Given the description of an element on the screen output the (x, y) to click on. 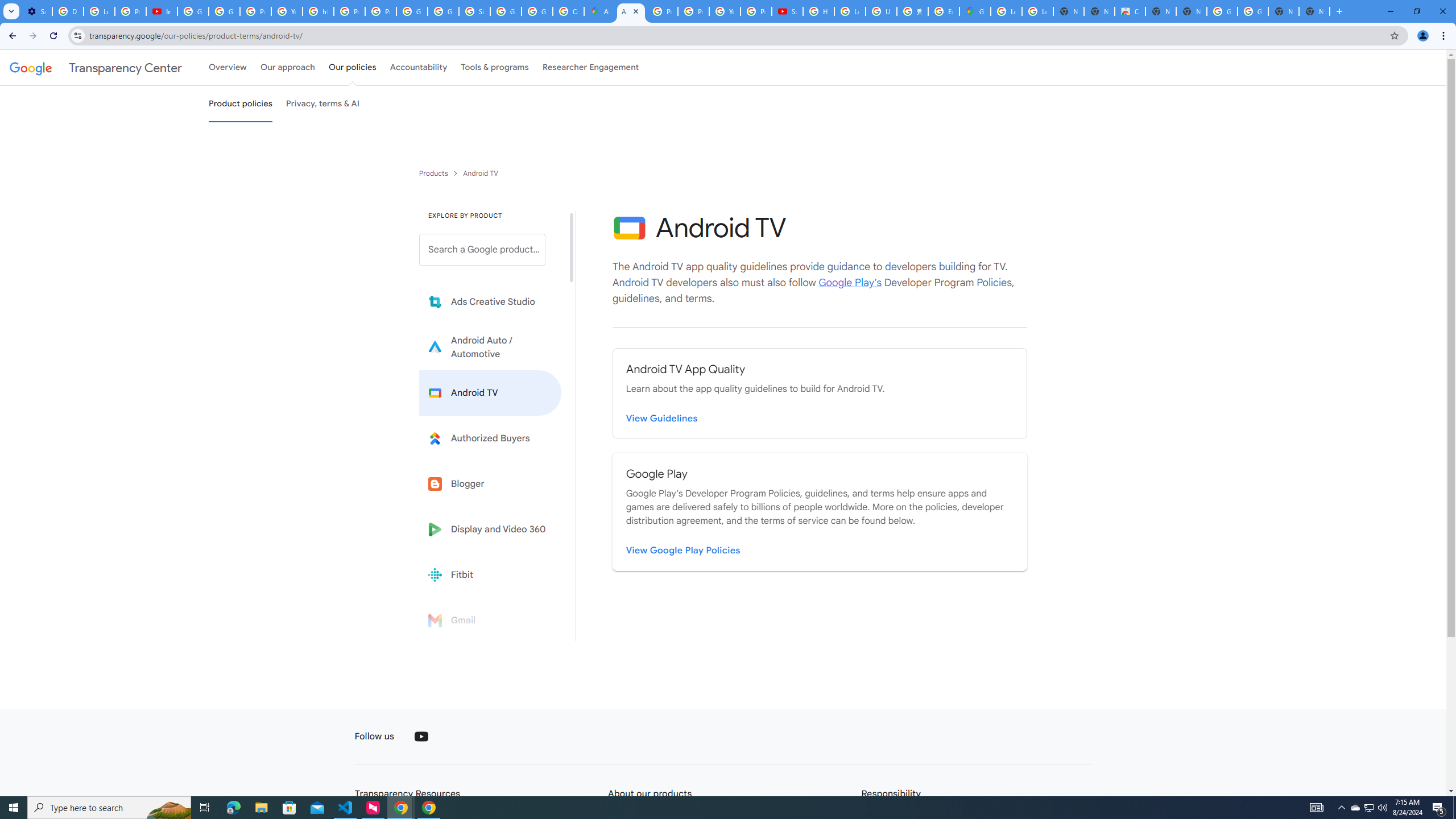
Google Images (1222, 11)
Learn more about Ads Creative Studio (490, 302)
Product policies (434, 173)
Chrome Web Store (1129, 11)
Create your Google Account (568, 11)
Our policies (351, 67)
New Tab (1314, 11)
Fitbit (490, 574)
